Given the description of an element on the screen output the (x, y) to click on. 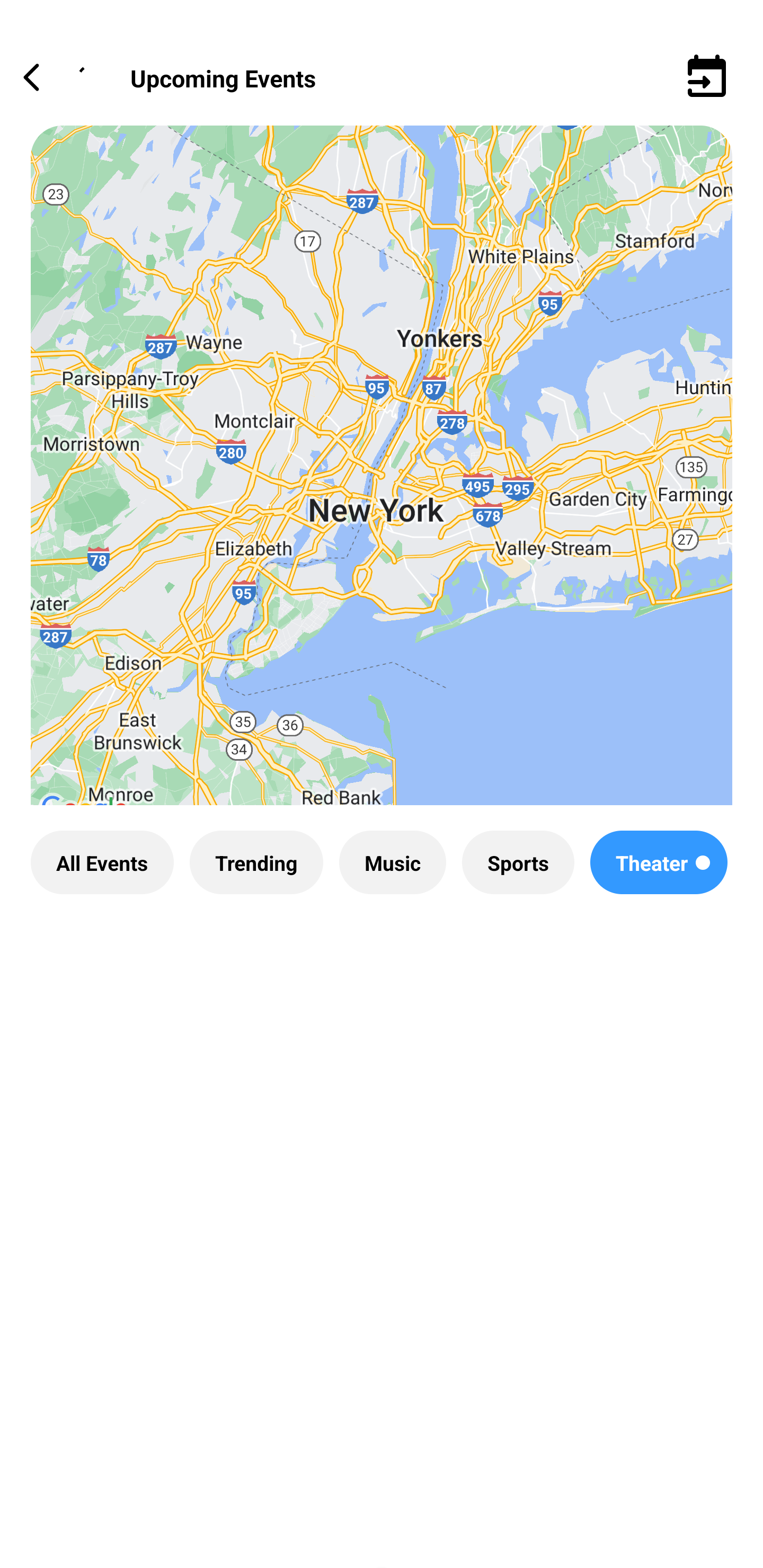
Google Map (381, 480)
All Events (101, 862)
Trending (256, 862)
Music (392, 862)
Sports (518, 862)
Theater (658, 862)
